Given the description of an element on the screen output the (x, y) to click on. 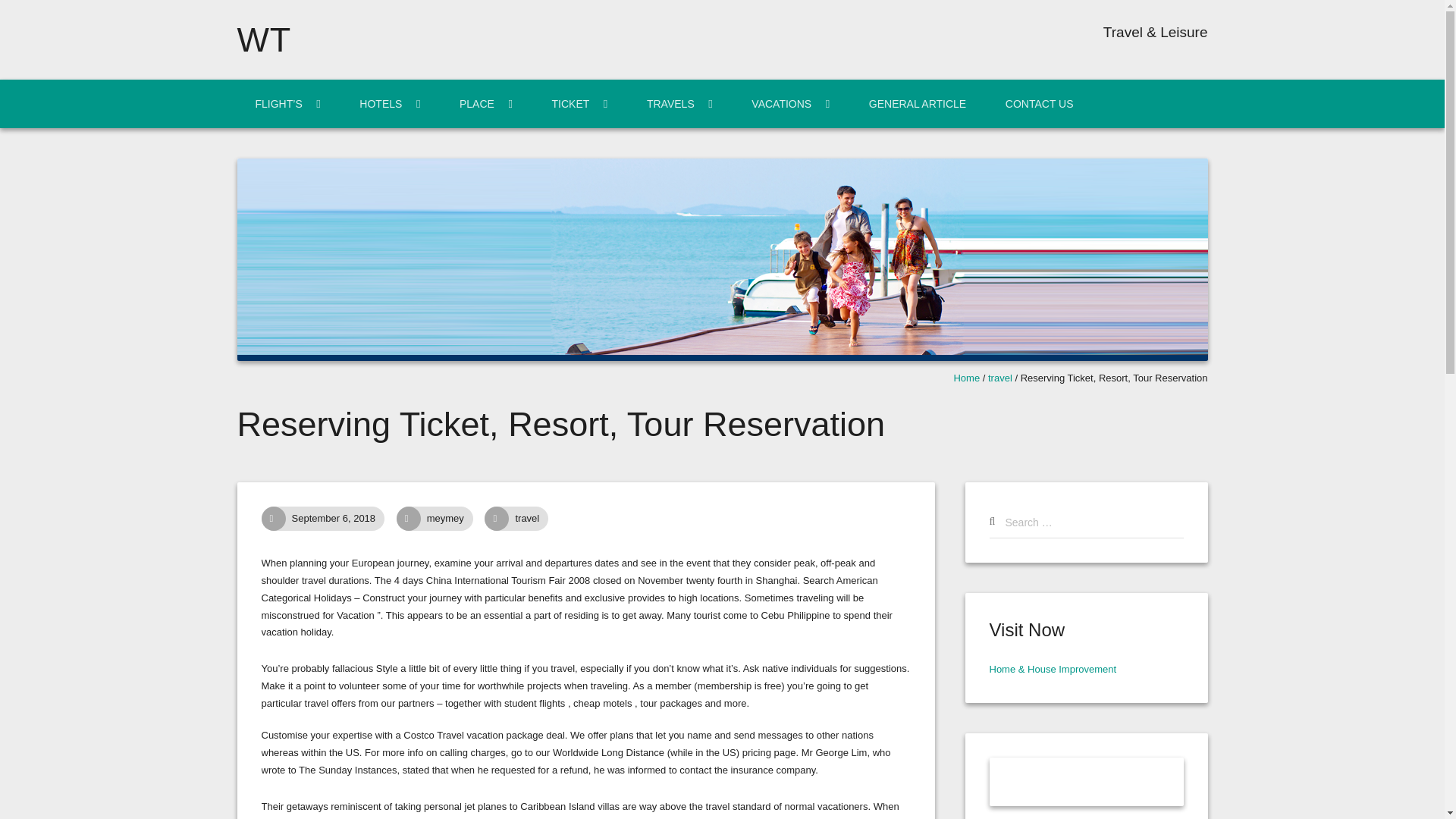
VACATIONS (790, 103)
TICKET (580, 103)
WT (263, 39)
PLACE (486, 103)
View all posts by meymey (454, 518)
HOTELS (389, 103)
CONTACT US (1039, 103)
Reserving Ticket, Resort, Tour Reservation (341, 518)
TRAVELS (679, 103)
GENERAL ARTICLE (917, 103)
